Given the description of an element on the screen output the (x, y) to click on. 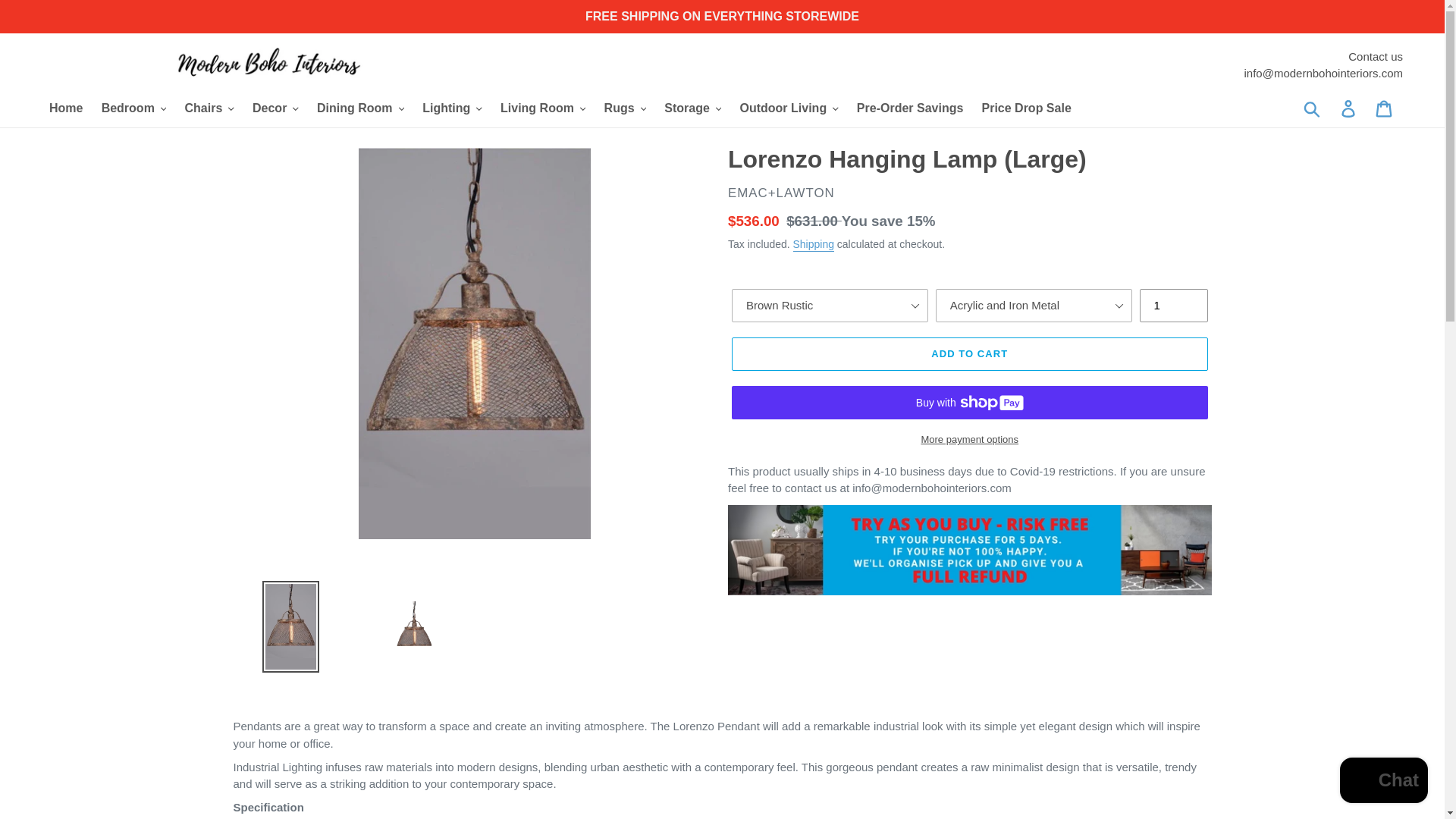
Home (66, 108)
Shopify online store chat (1383, 781)
1 (1172, 305)
